Given the description of an element on the screen output the (x, y) to click on. 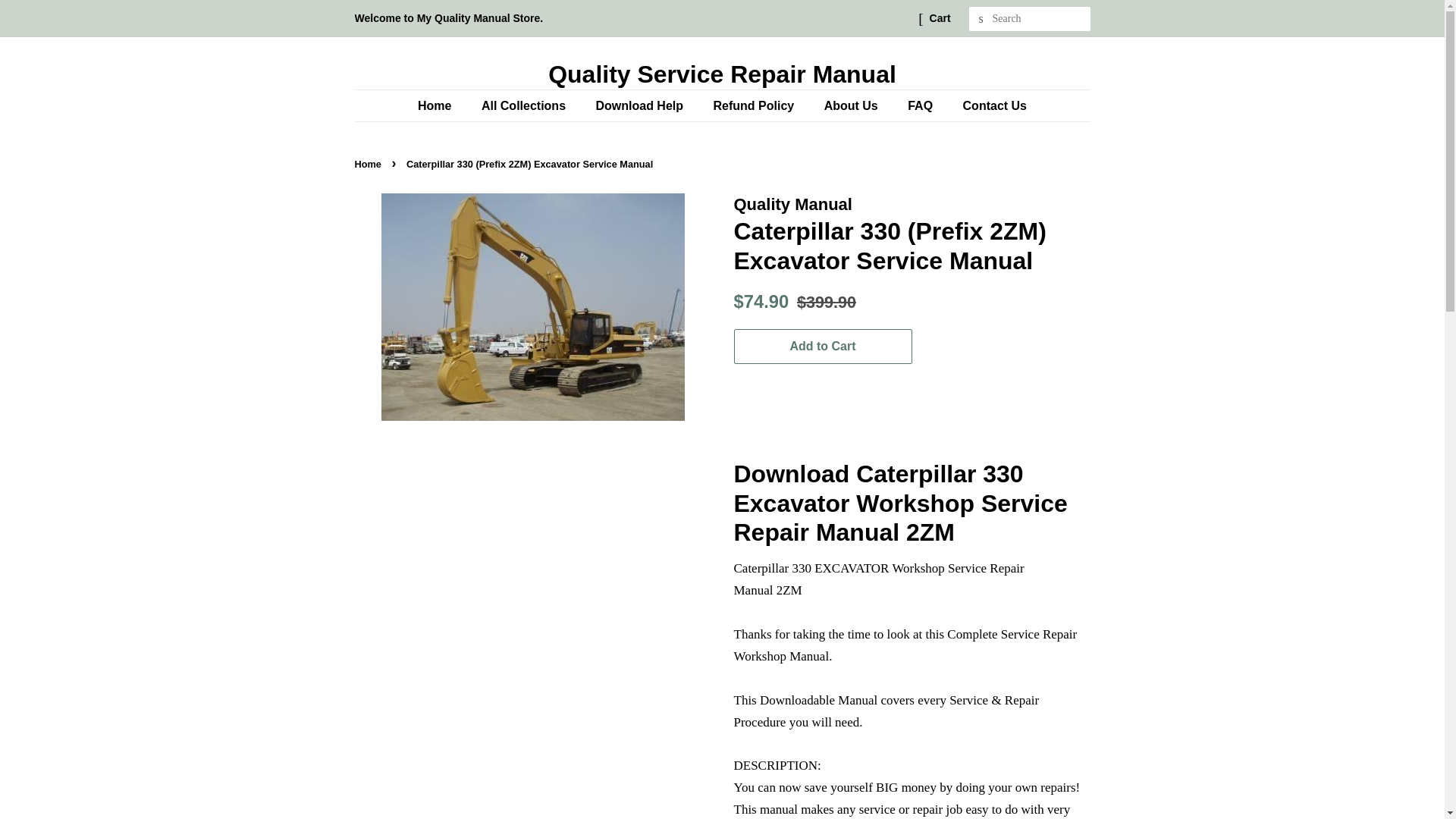
Add to Cart (822, 346)
Home (441, 105)
Download Help (640, 105)
Refund Policy (755, 105)
Cart (940, 18)
Search (980, 18)
Welcome to My Quality Manual Store. (449, 18)
Back to the frontpage (370, 163)
About Us (852, 105)
Home (370, 163)
